Given the description of an element on the screen output the (x, y) to click on. 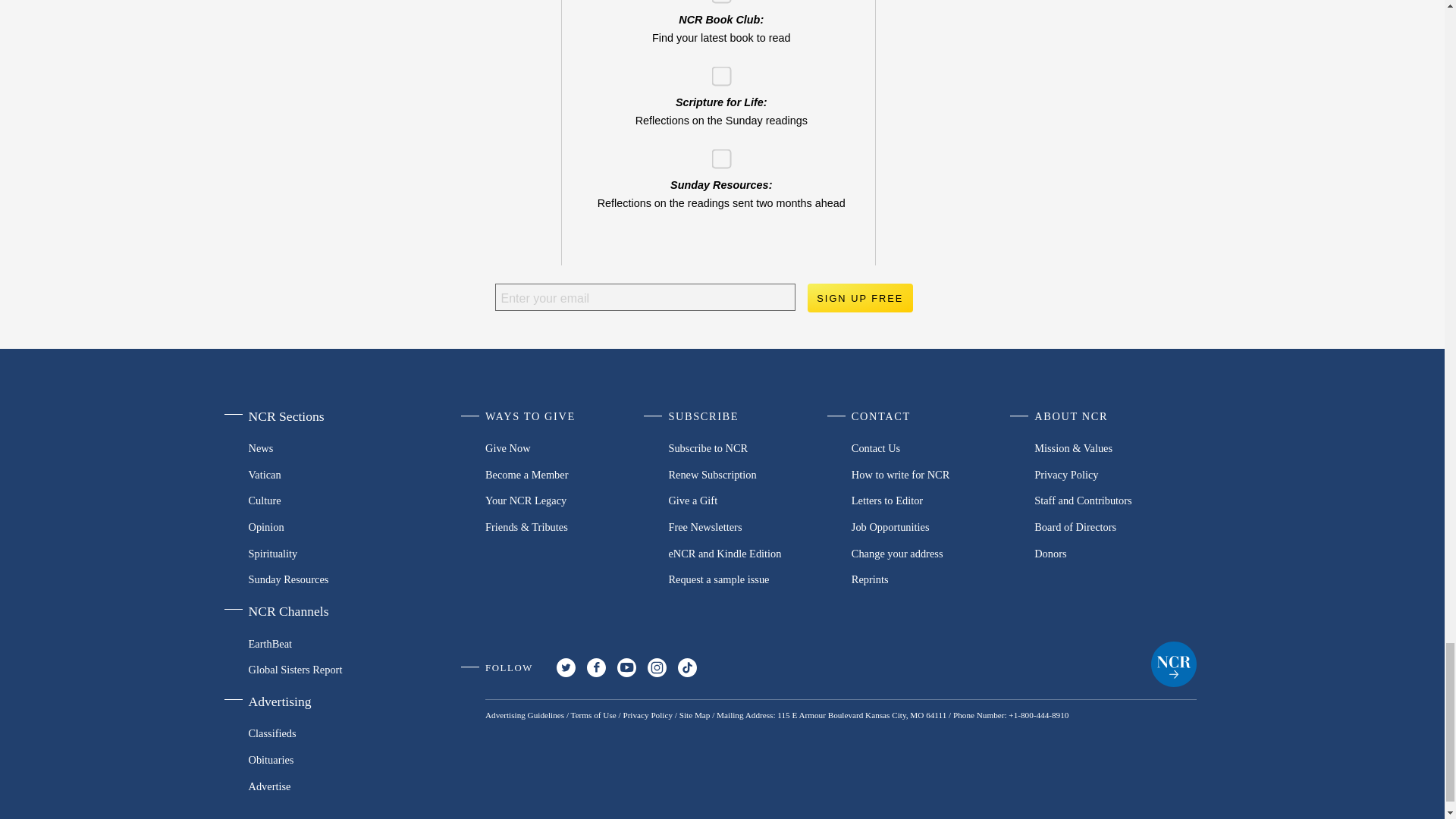
dfa4c56aff (715, 153)
Request a sample issue of NCR (748, 579)
Request a reprint of NCR content (932, 579)
Sign up free (859, 297)
c25324053e (715, 71)
Change your address (932, 552)
How to write for NCR (932, 474)
Advertise with NCR (324, 786)
Donors (1114, 552)
